Given the description of an element on the screen output the (x, y) to click on. 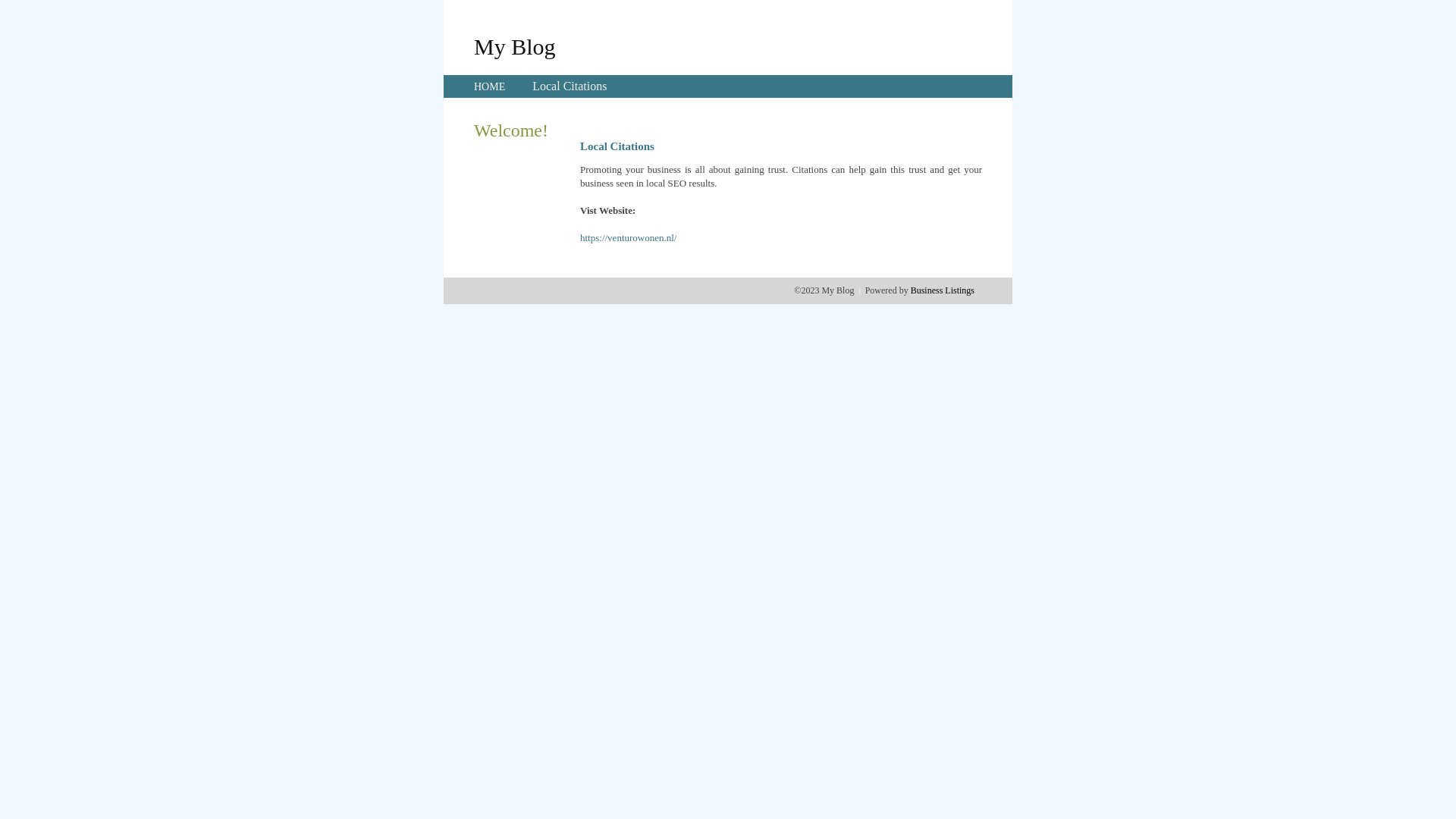
Local Citations Element type: text (569, 85)
Business Listings Element type: text (942, 290)
https://venturowonen.nl/ Element type: text (628, 237)
My Blog Element type: text (514, 46)
HOME Element type: text (489, 86)
